Given the description of an element on the screen output the (x, y) to click on. 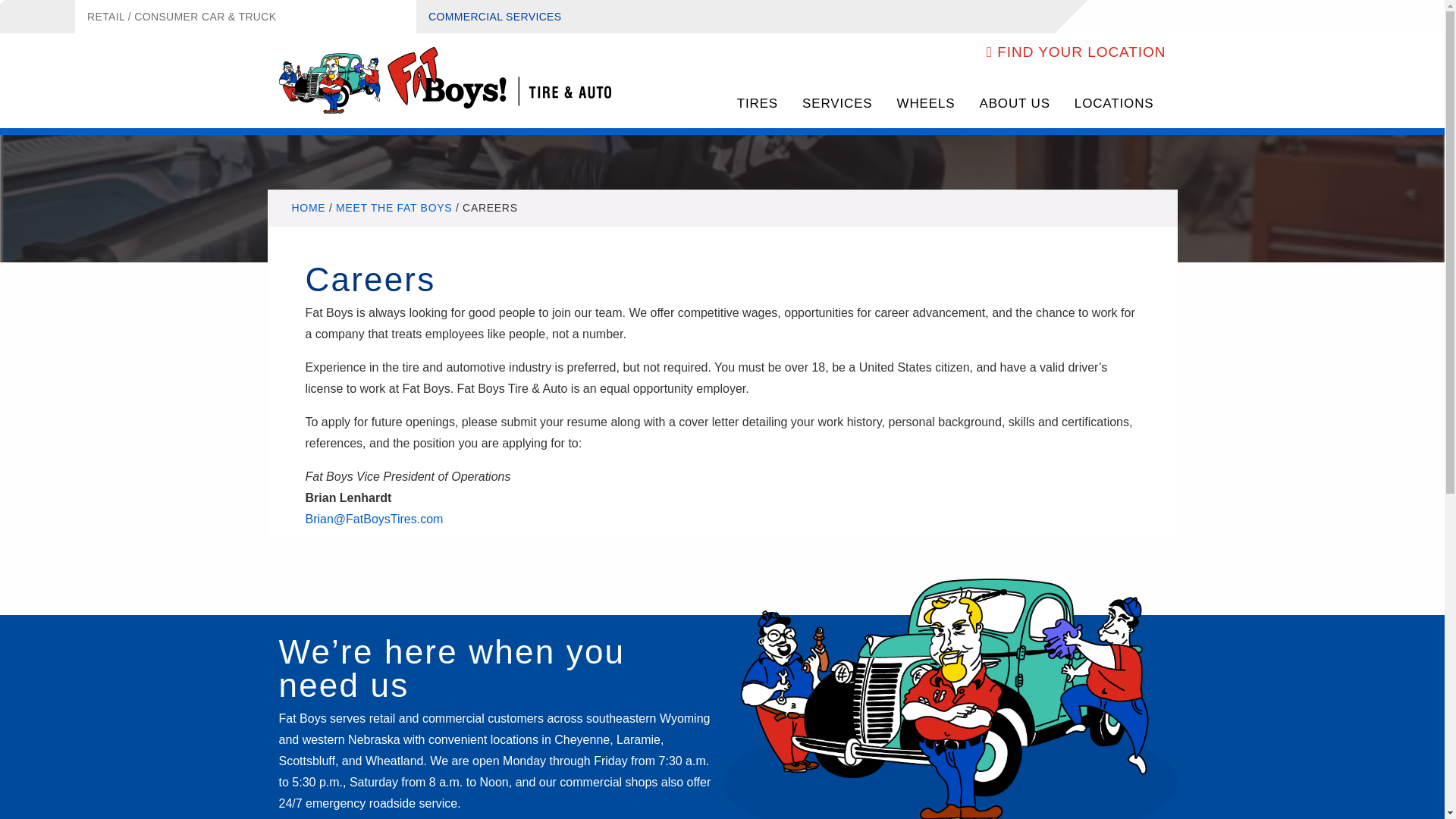
Commercial Services (494, 16)
COMMERCIAL SERVICES (494, 16)
FIND YOUR LOCATION (1076, 51)
Shop for Tires Online! (757, 104)
ABOUT US (1013, 104)
LOCATIONS (1114, 104)
SERVICES (836, 104)
WHEELS (926, 104)
TIRES (757, 104)
